Given the description of an element on the screen output the (x, y) to click on. 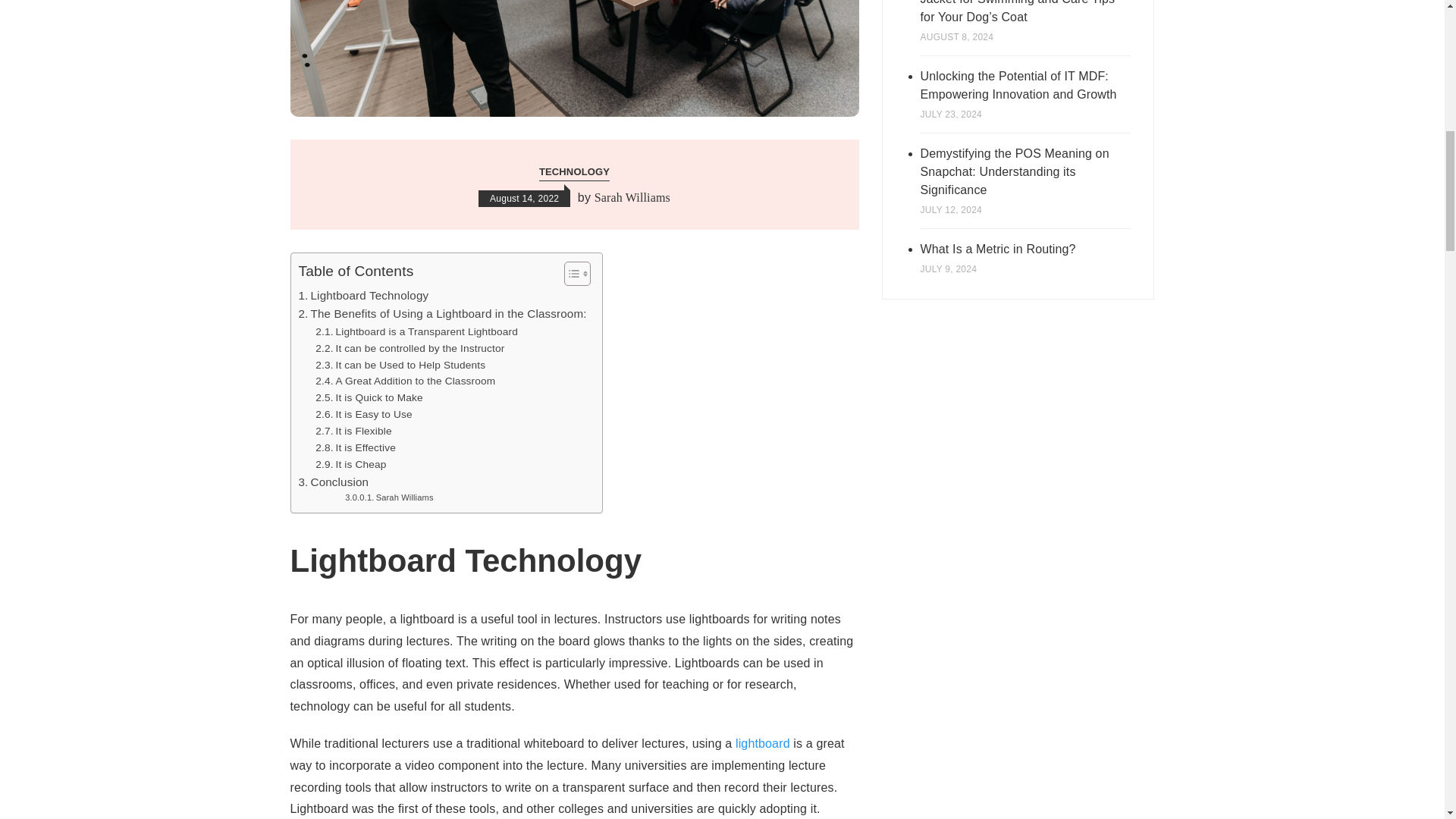
It is Easy to Use (363, 414)
A Great Addition to the Classroom (405, 381)
A Great Addition to the Classroom (405, 381)
Conclusion (333, 482)
Lightboard is a Transparent Lightboard (416, 331)
Sarah Williams (631, 198)
It is Flexible (353, 431)
It is Flexible (353, 431)
Sarah Williams (388, 498)
